Given the description of an element on the screen output the (x, y) to click on. 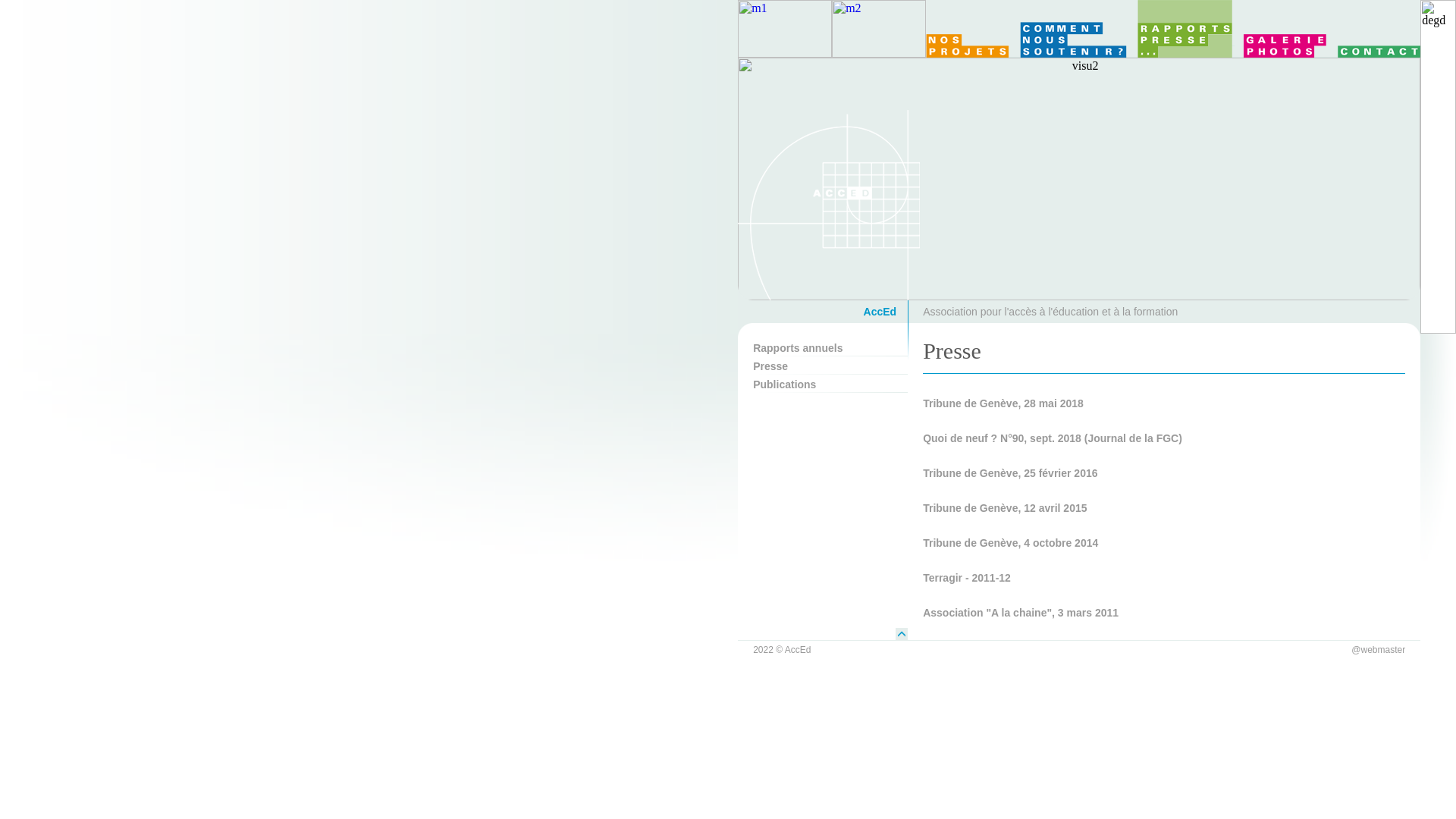
Publications Element type: text (830, 383)
@webmaster Element type: text (1378, 649)
Terragir - 2011-12 Element type: text (966, 577)
Presse Element type: text (830, 365)
Rapports annuels Element type: text (830, 347)
Association "A la chaine", 3 mars 2011 Element type: text (1020, 612)
